Given the description of an element on the screen output the (x, y) to click on. 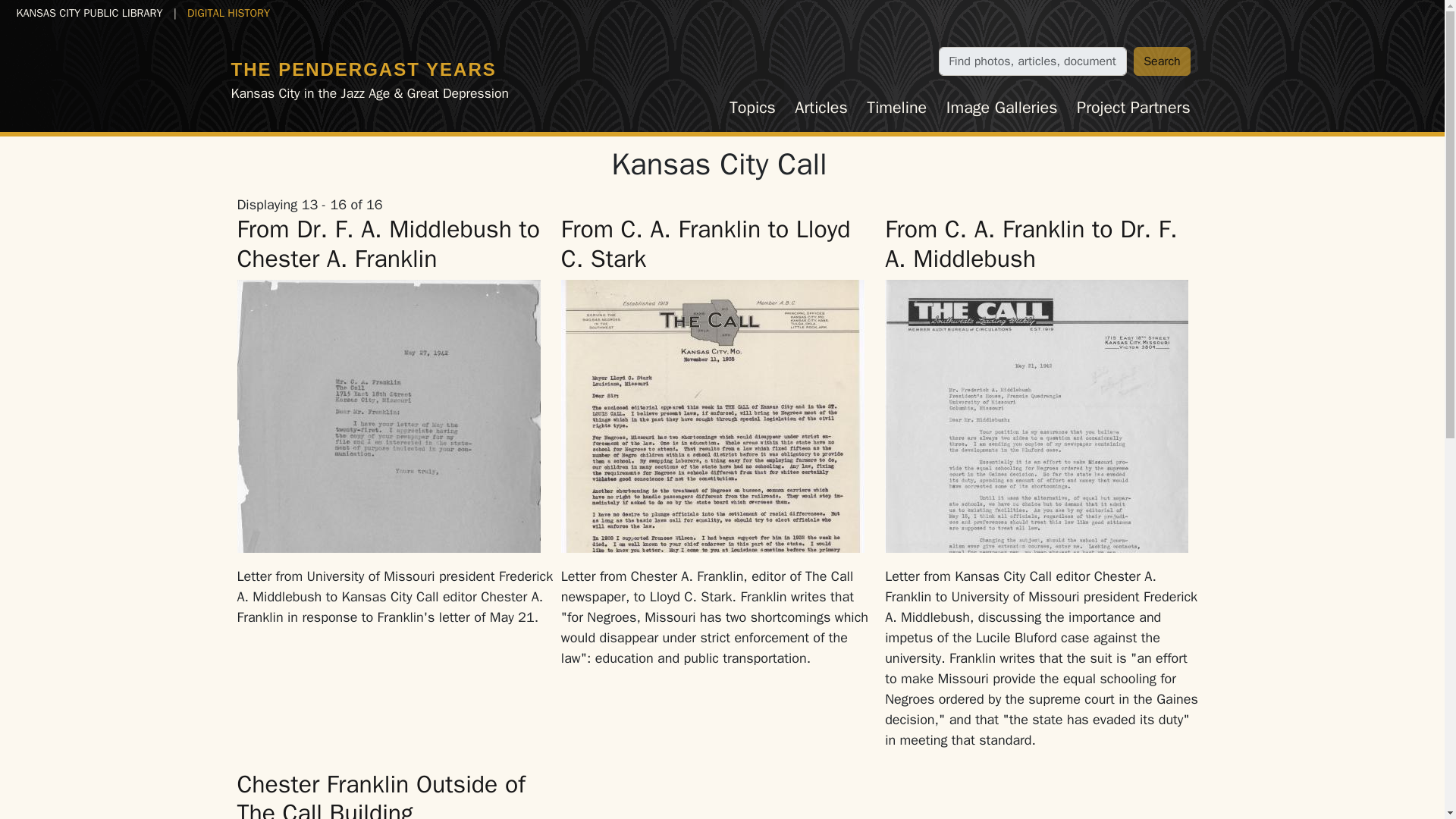
Chester Franklin Outside of The Call Building (379, 794)
DIGITAL HISTORY (228, 12)
Search (1162, 61)
Articles (821, 107)
Project Partners (1133, 107)
Timeline (897, 107)
Search (1162, 61)
From Dr. F. A. Middlebush to Chester A. Franklin (386, 243)
Topics (751, 107)
THE PENDERGAST YEARS (363, 68)
From C. A. Franklin to Lloyd C. Stark (705, 243)
Home (363, 68)
Skip to main content (67, 11)
Image Galleries (1001, 107)
From C. A. Franklin to Dr. F. A. Middlebush (1030, 243)
